Given the description of an element on the screen output the (x, y) to click on. 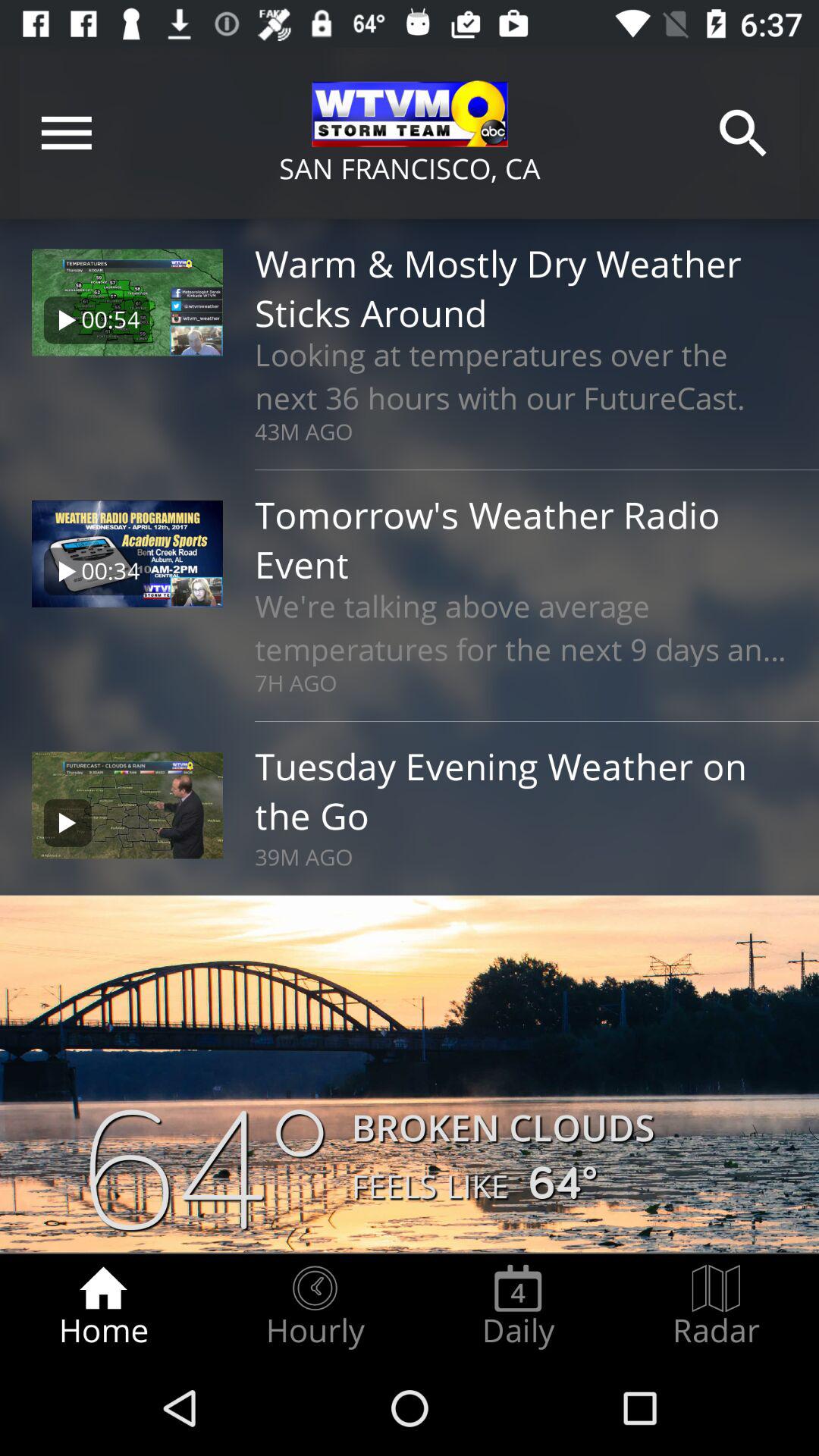
click item next to the daily item (315, 1307)
